Given the description of an element on the screen output the (x, y) to click on. 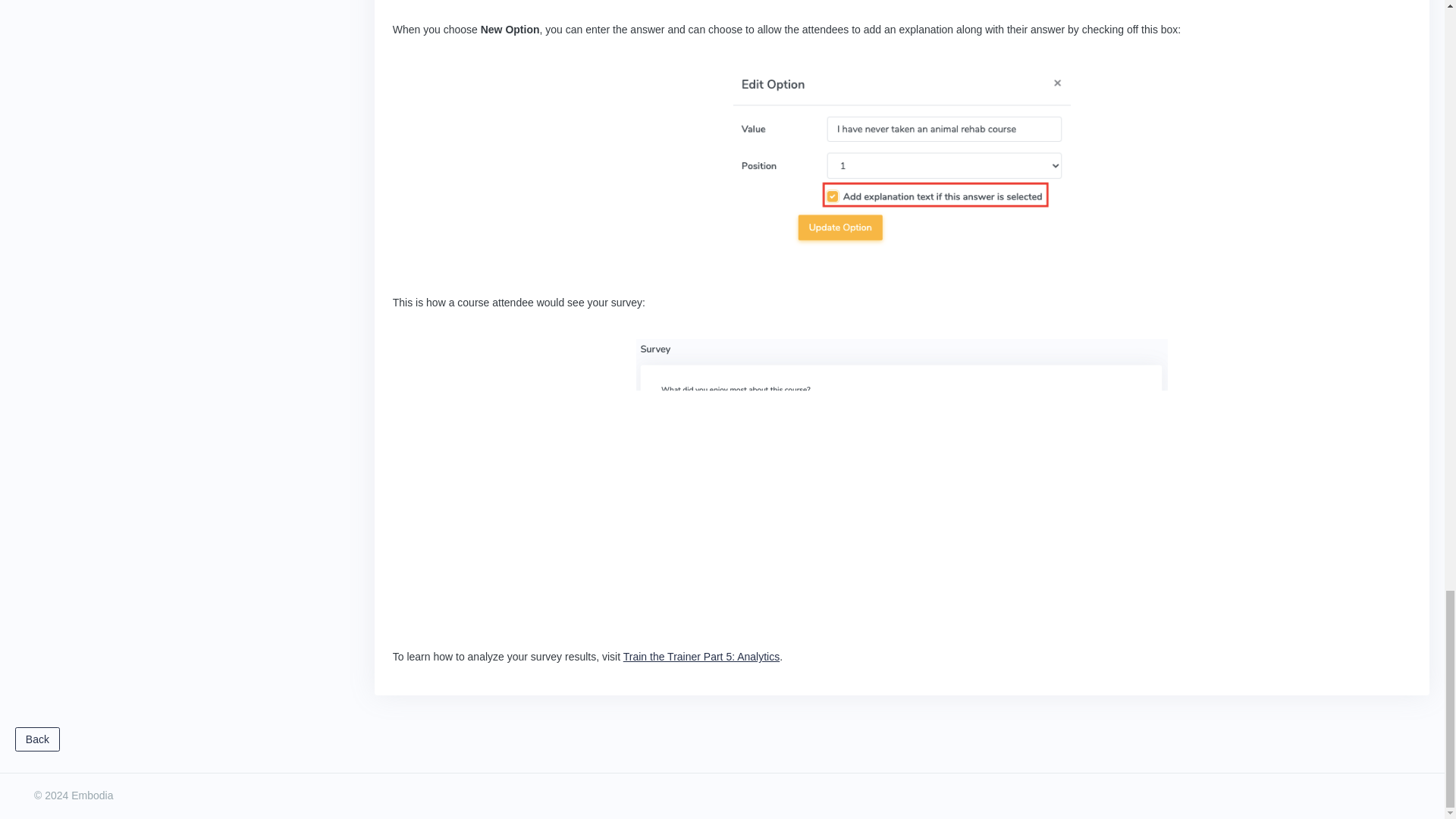
Train the Trainer Part 5: Analytics (700, 656)
Back (36, 739)
Train the Trainer Part 5: Analytics (700, 656)
